Given the description of an element on the screen output the (x, y) to click on. 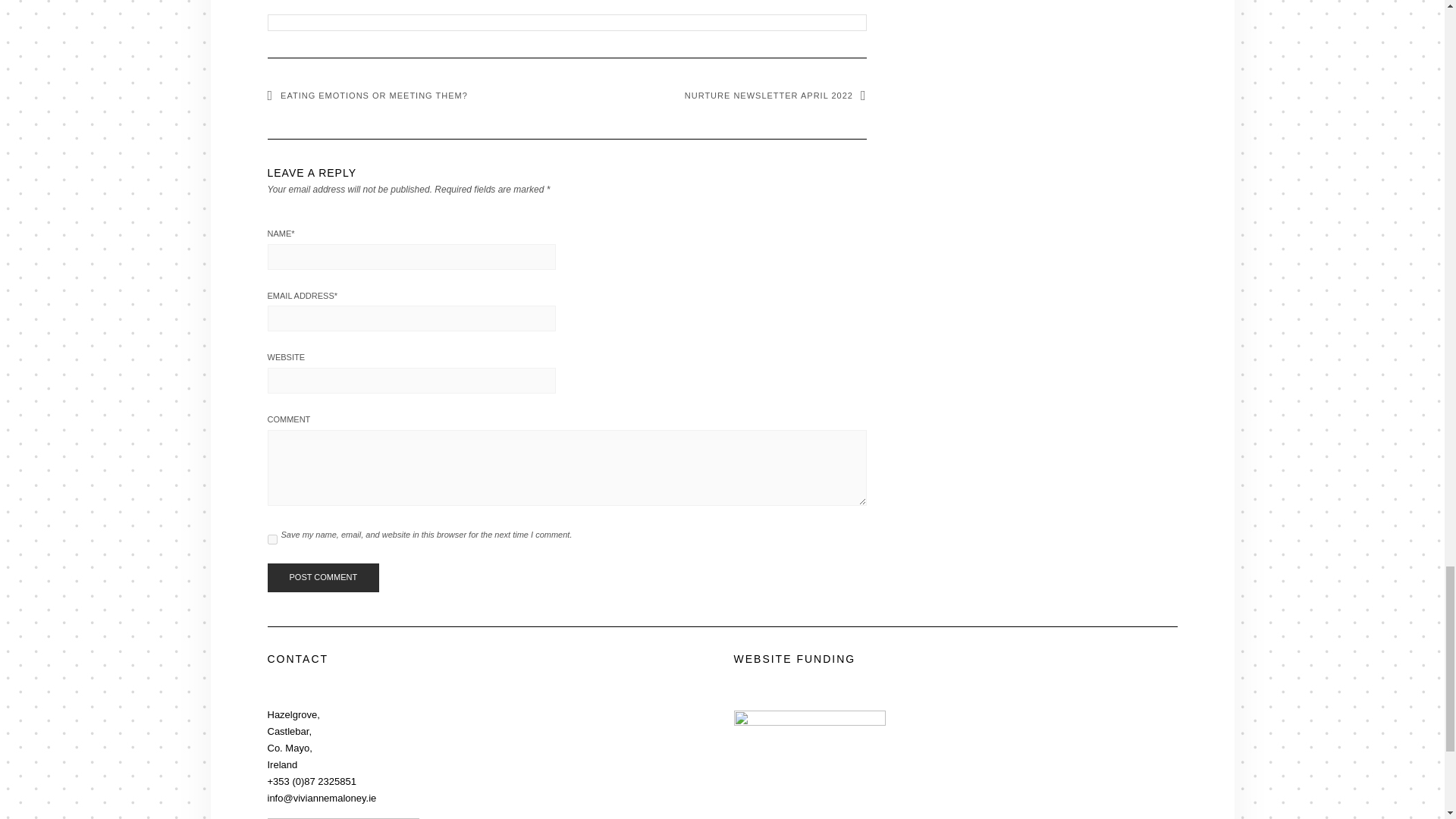
EATING EMOTIONS OR MEETING THEM? (366, 94)
NURTURE NEWSLETTER APRIL 2022 (775, 94)
Post Comment (322, 577)
Unfurl February 2022 Edition of Nurture Newsletter (566, 5)
yes (271, 539)
Post Comment (322, 577)
